Given the description of an element on the screen output the (x, y) to click on. 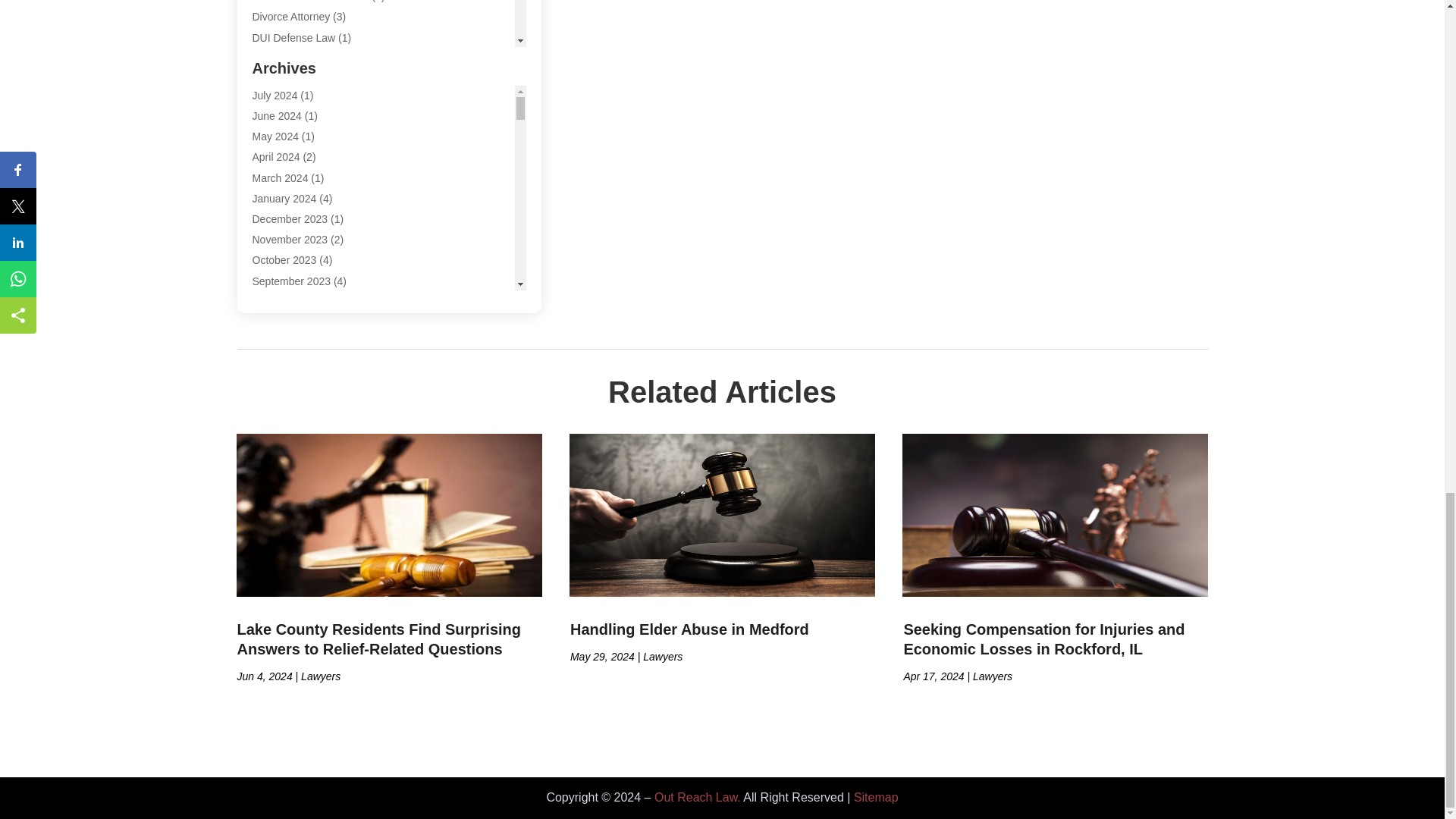
Elder Law (274, 58)
Employment Law (292, 78)
Estate Planning Lawyers (309, 99)
Foreclosure (279, 141)
Disabilities Law Services (309, 1)
DUI Defense Law (292, 37)
Family Lawyer (285, 119)
Divorce Attorney (290, 16)
